Given the description of an element on the screen output the (x, y) to click on. 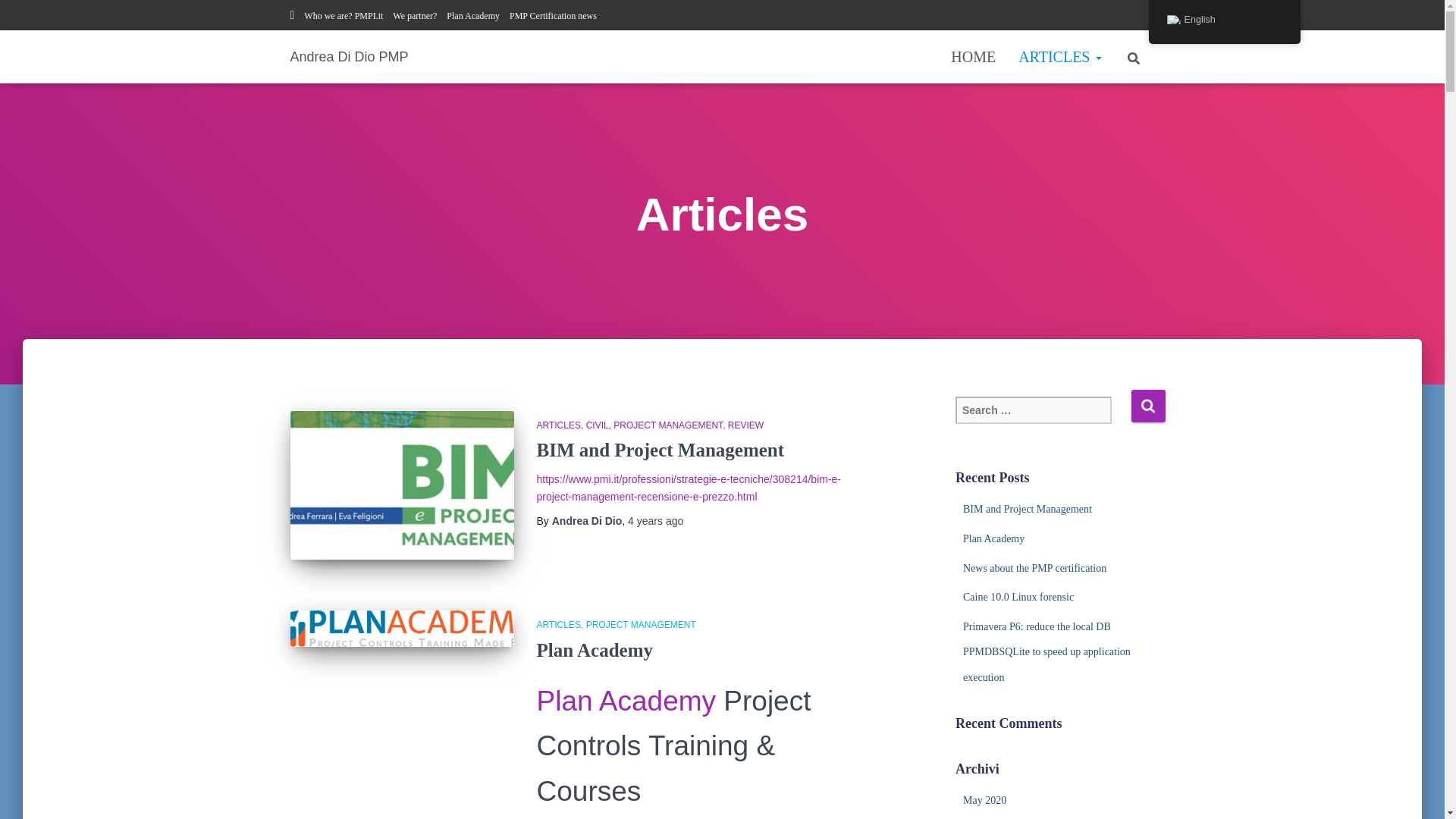
HOME (973, 56)
We partner? (414, 15)
Home (973, 56)
ARTICLES (561, 624)
Andrea Di Dio (587, 521)
Search (16, 16)
Search (1148, 405)
Plan Academy (472, 15)
REVIEW (745, 425)
PROJECT MANAGEMENT (640, 624)
